Given the description of an element on the screen output the (x, y) to click on. 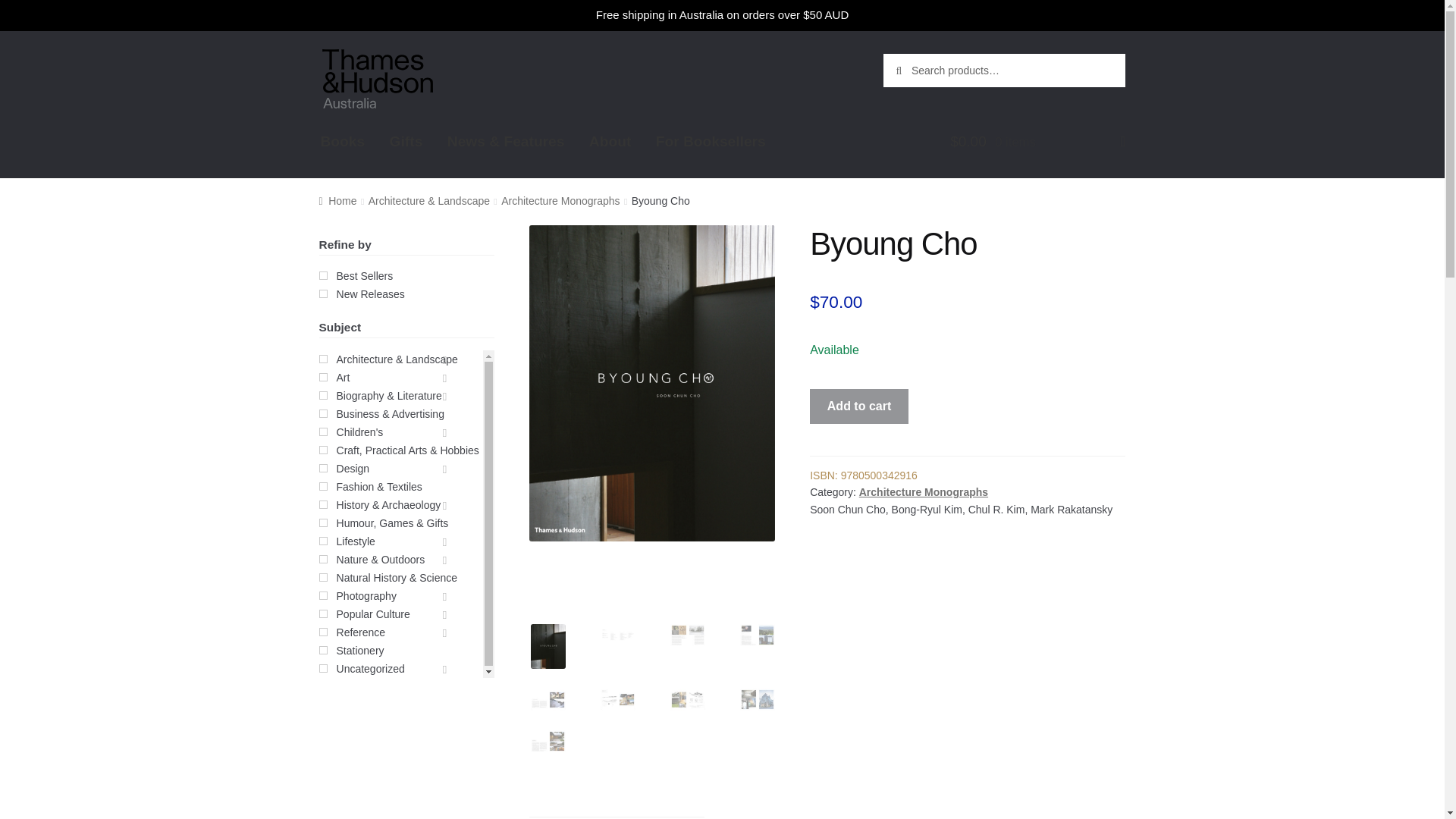
For Booksellers (710, 140)
Books (342, 140)
About (609, 140)
Home (337, 200)
Add to cart (858, 406)
Skip to navigation (366, 44)
Architecture Monographs (406, 284)
Gifts (923, 491)
